Given the description of an element on the screen output the (x, y) to click on. 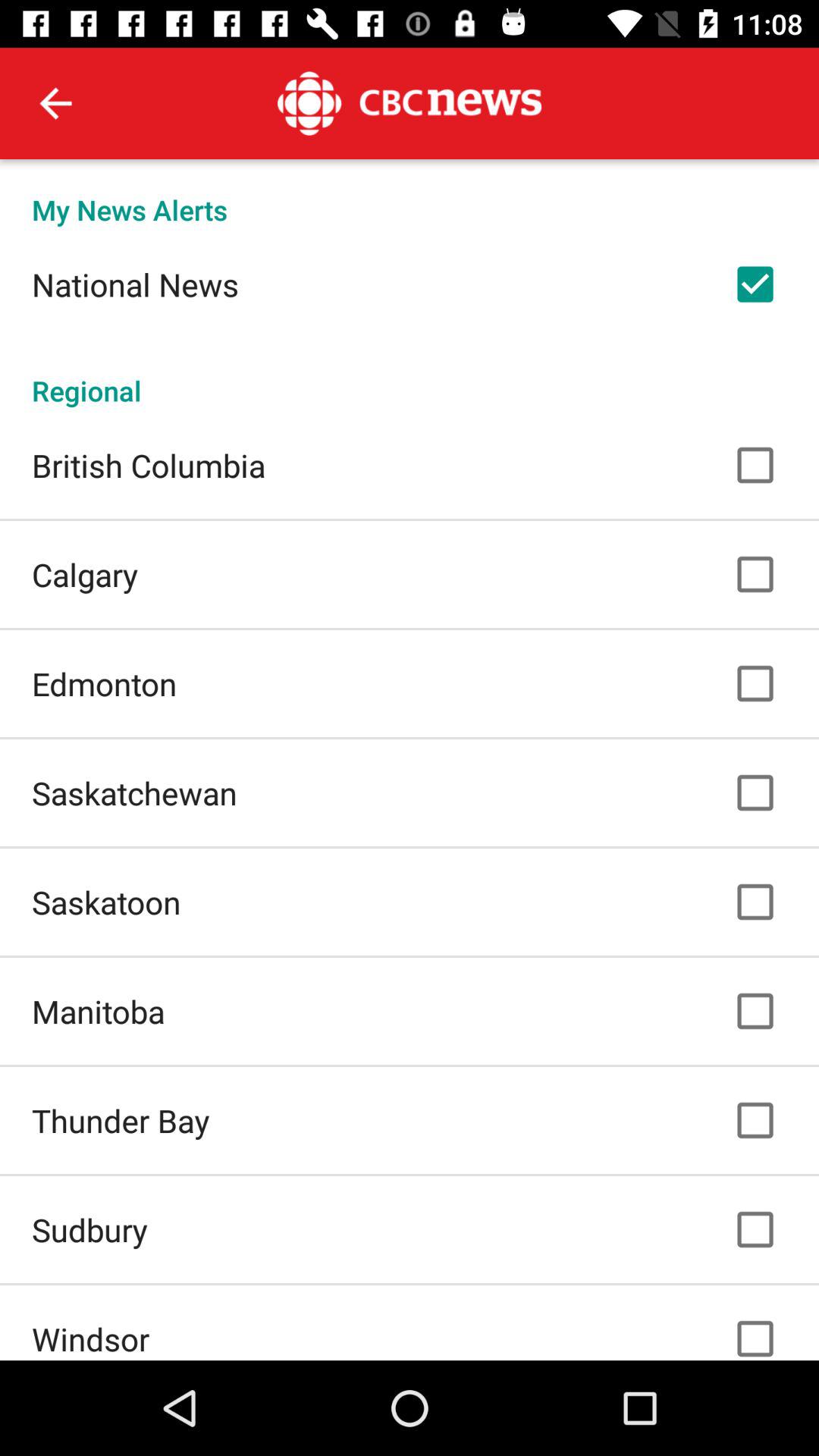
tap the item above regional item (134, 283)
